Given the description of an element on the screen output the (x, y) to click on. 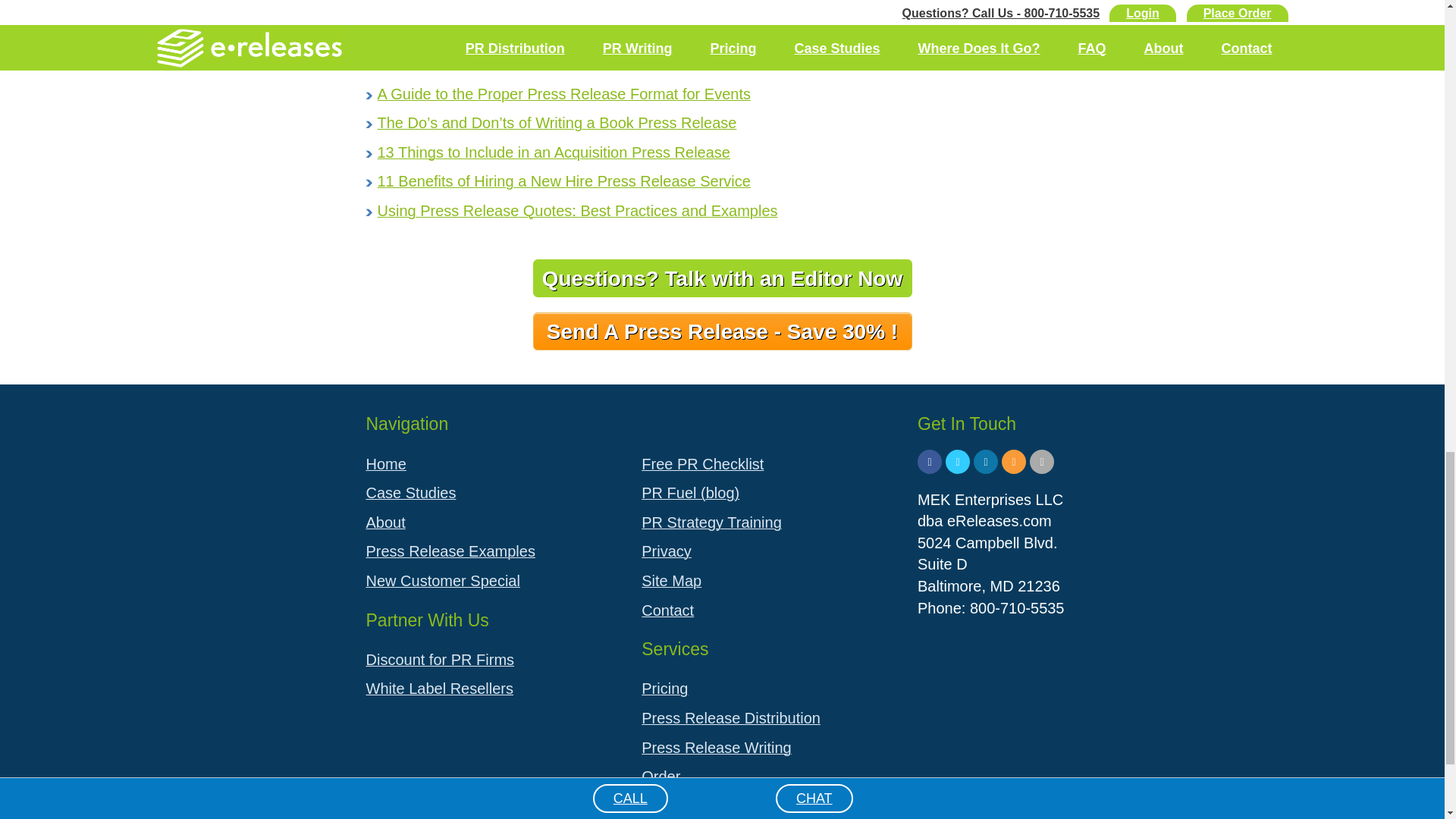
Press Release Examples (491, 551)
Case Studies (491, 492)
New Customer Special (491, 581)
A Guide to the Proper Press Release Format for Events (564, 93)
11 Benefits of Hiring a New Hire Press Release Service (564, 180)
Using Press Release Quotes: Best Practices and Examples (577, 210)
Questions? Talk with an Editor Now (721, 278)
About (491, 522)
13 Things to Include in an Acquisition Press Release (553, 152)
Home (491, 464)
